Given the description of an element on the screen output the (x, y) to click on. 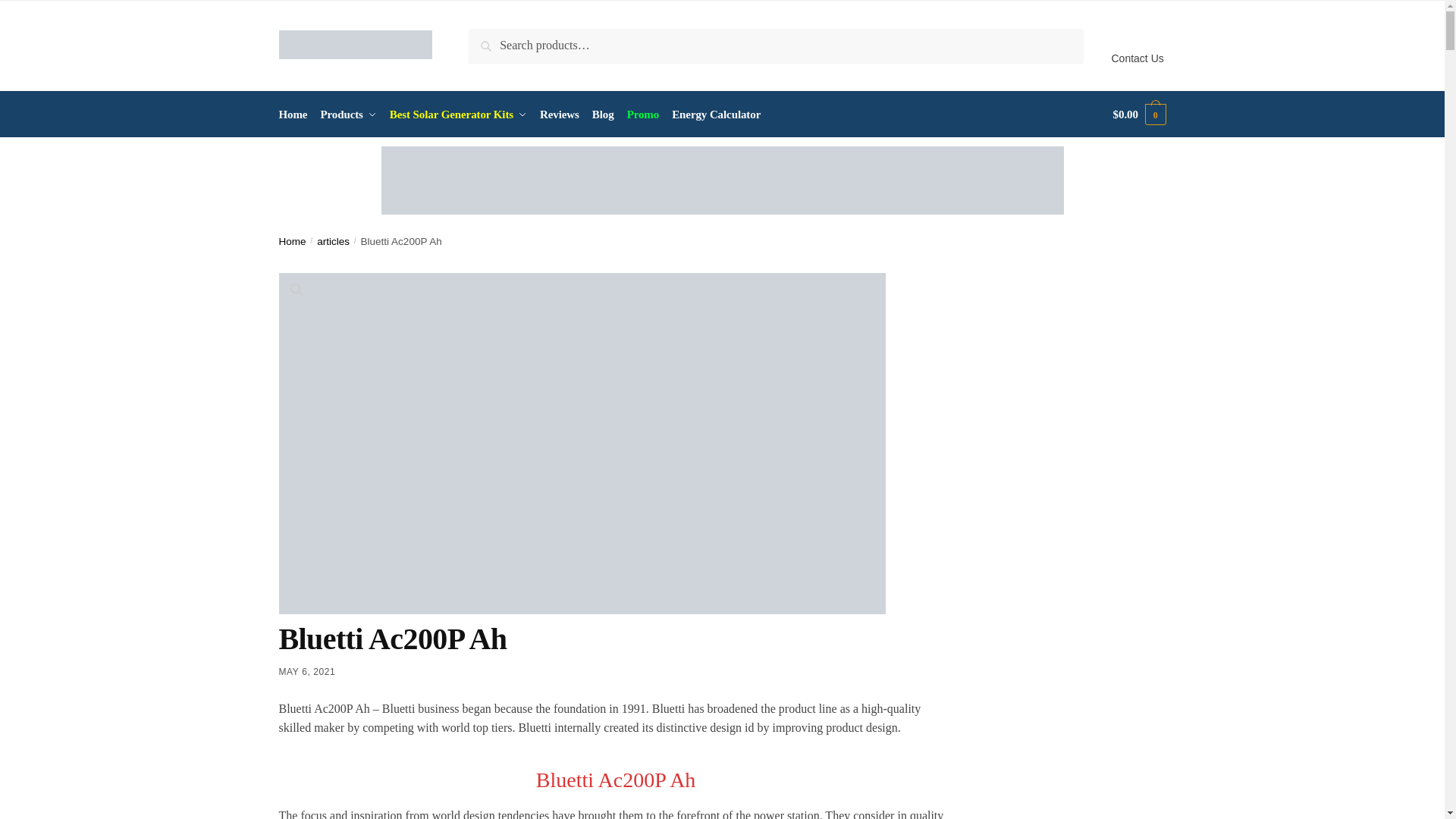
Search (489, 38)
articles (333, 241)
Energy Calculator (716, 114)
View your shopping cart (1139, 114)
Promo (642, 114)
Home (292, 241)
Reviews (559, 114)
Products (348, 114)
Best Solar Generator Kits (459, 114)
Contact Us (1137, 45)
